Given the description of an element on the screen output the (x, y) to click on. 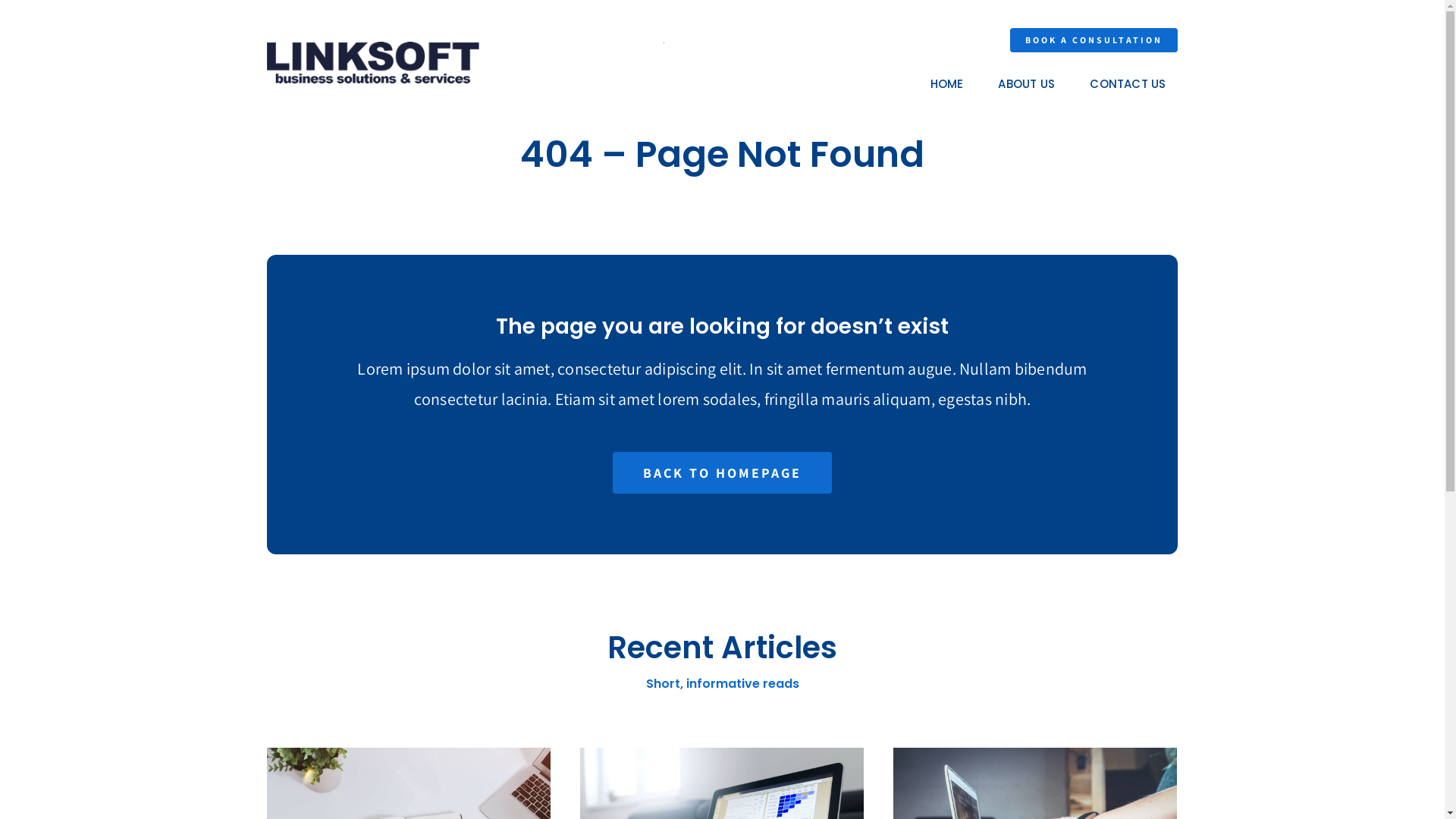
CONTACT US Element type: text (1127, 84)
ABOUT US Element type: text (1026, 84)
BOOK A CONSULTATION Element type: text (1093, 40)
BACK TO HOMEPAGE Element type: text (721, 472)
HOME Element type: text (947, 84)
